Given the description of an element on the screen output the (x, y) to click on. 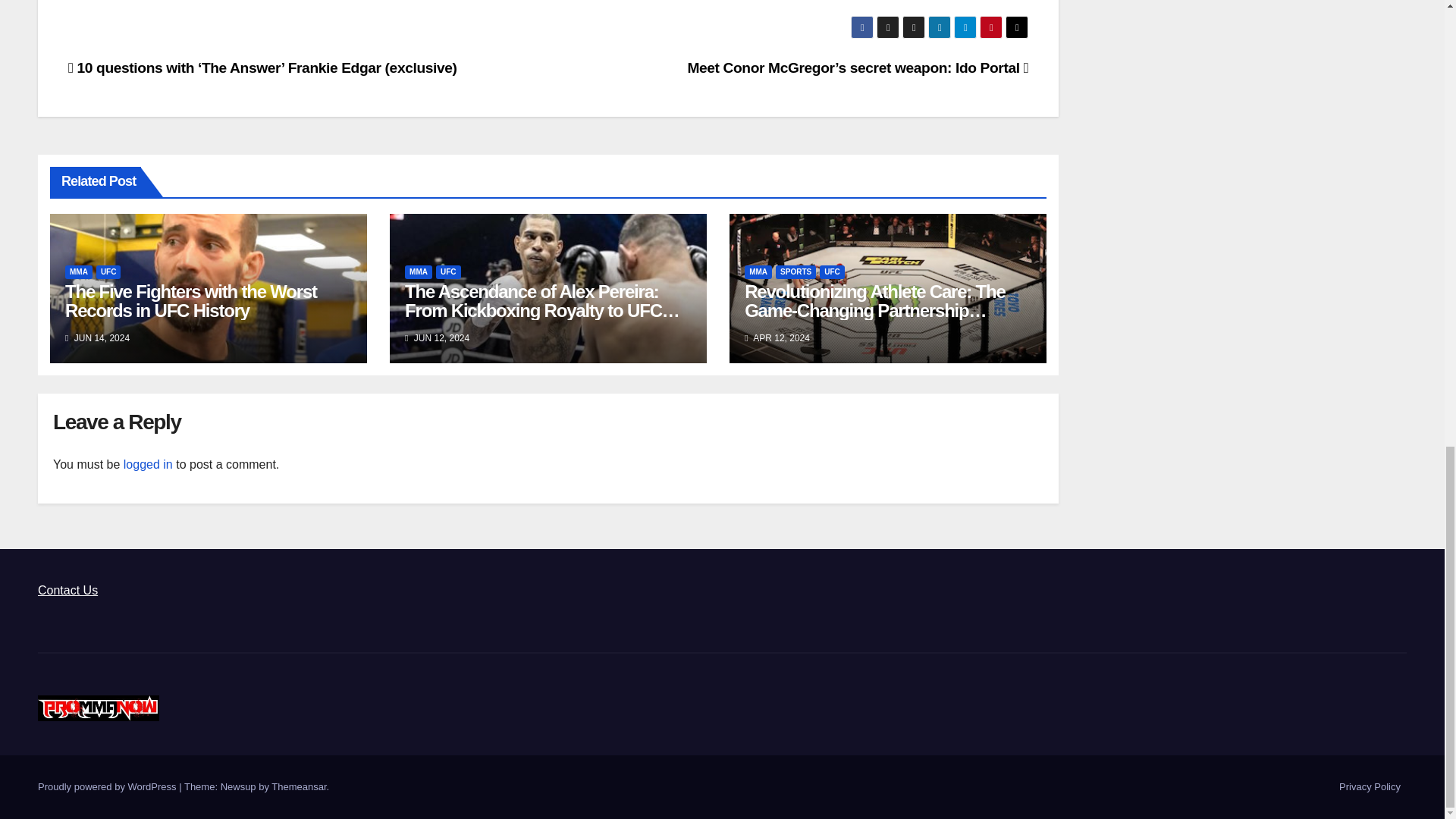
Privacy Policy (1369, 786)
